Given the description of an element on the screen output the (x, y) to click on. 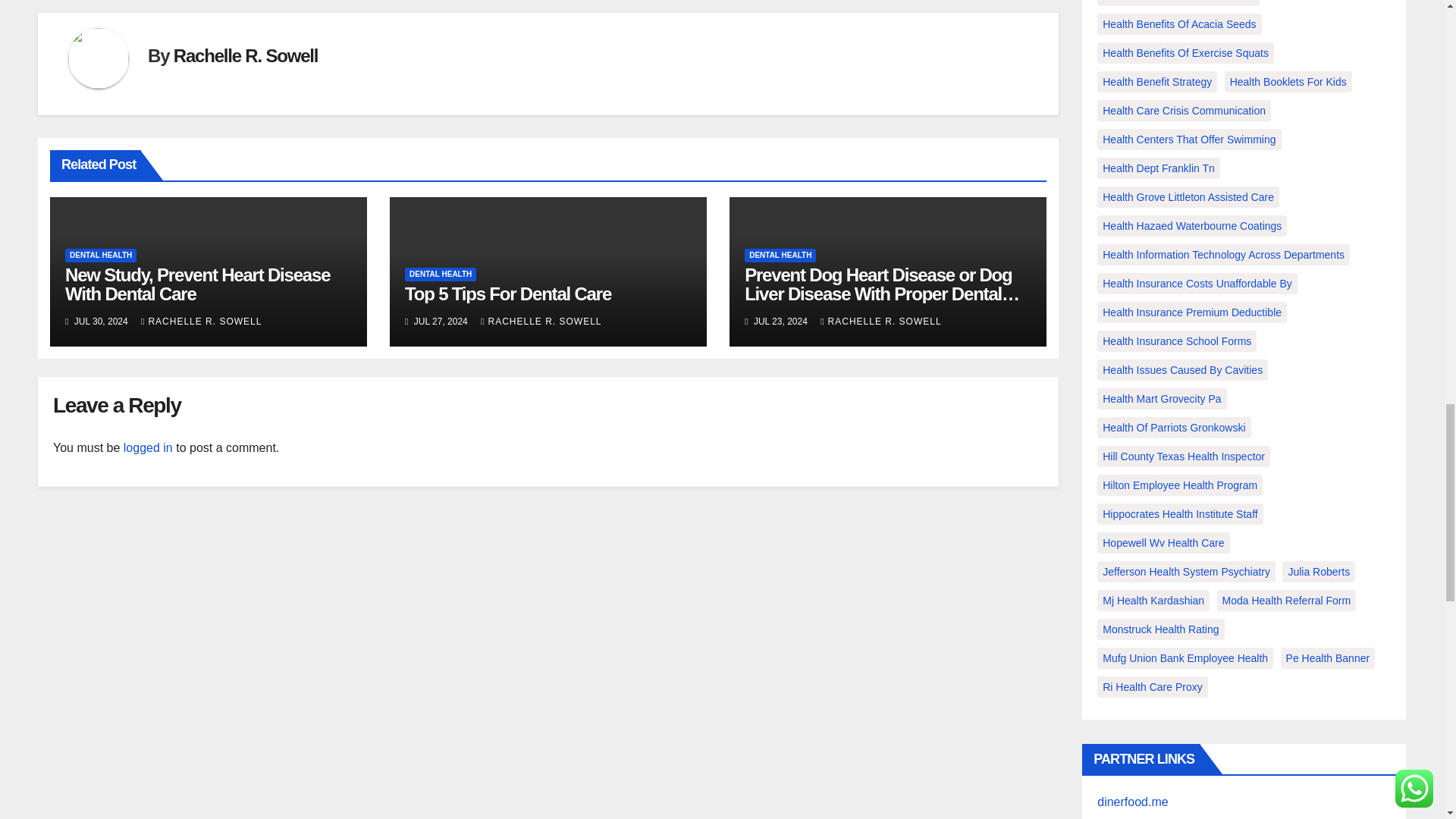
Rachelle R. Sowell (245, 55)
DENTAL HEALTH (100, 255)
New Study, Prevent Heart Disease With Dental Care (197, 283)
Permalink to: Top 5 Tips For Dental Care (507, 293)
